Given the description of an element on the screen output the (x, y) to click on. 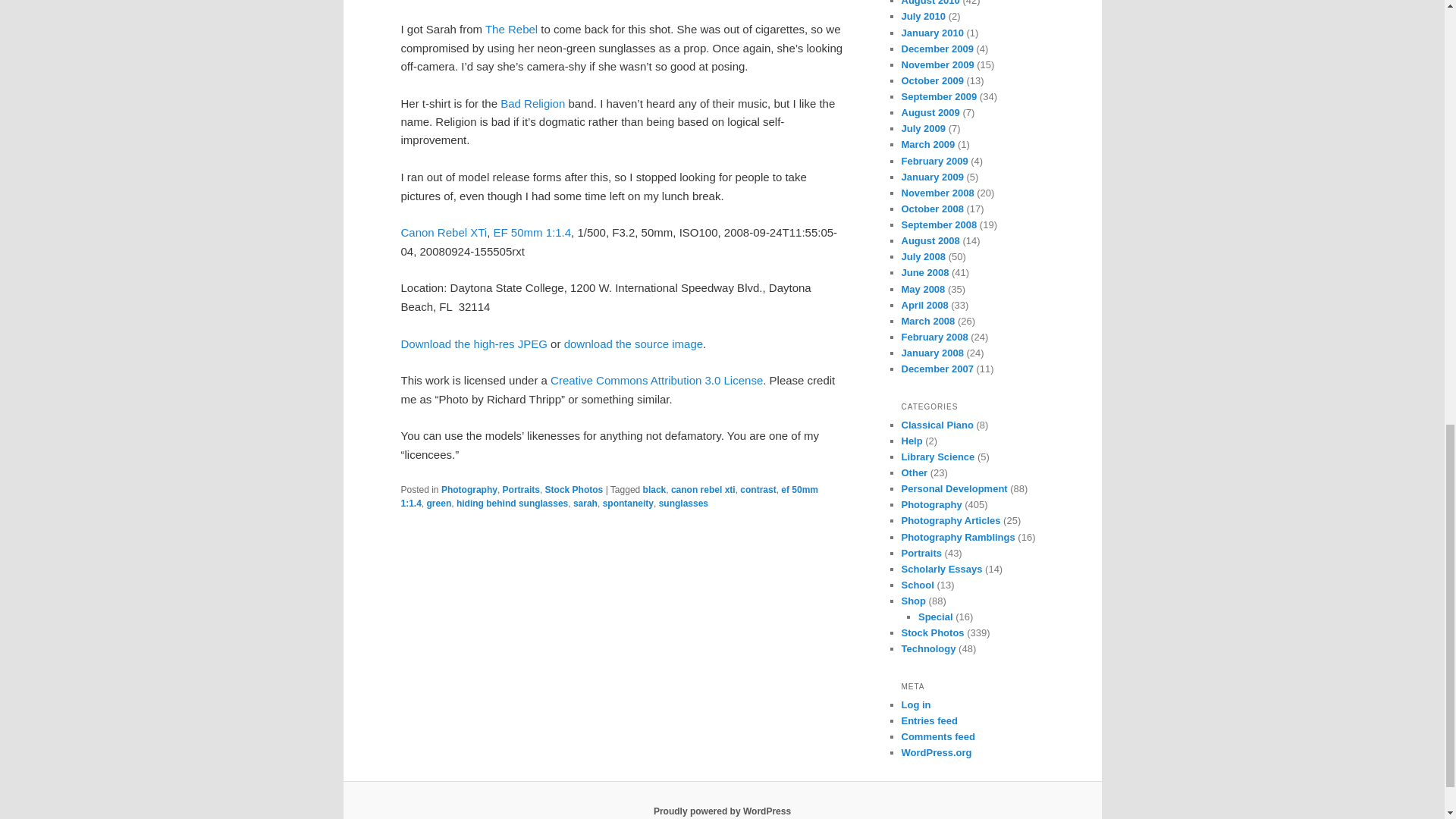
contrast (757, 489)
Creative Commons Attribution 3.0 License (656, 379)
green (438, 502)
Richard X. Thripp's Personal Development (954, 488)
I play classical piano, and this is the place for it. (936, 424)
Bad Religion (532, 103)
Stock Photos (574, 489)
EF 50mm 1:1.4 (532, 232)
black (654, 489)
Entries about my schooling. (917, 584)
Portraits (521, 489)
My photos of interesting people. (920, 552)
Prints available. (913, 600)
Uncategorized stuff. (914, 472)
